Given the description of an element on the screen output the (x, y) to click on. 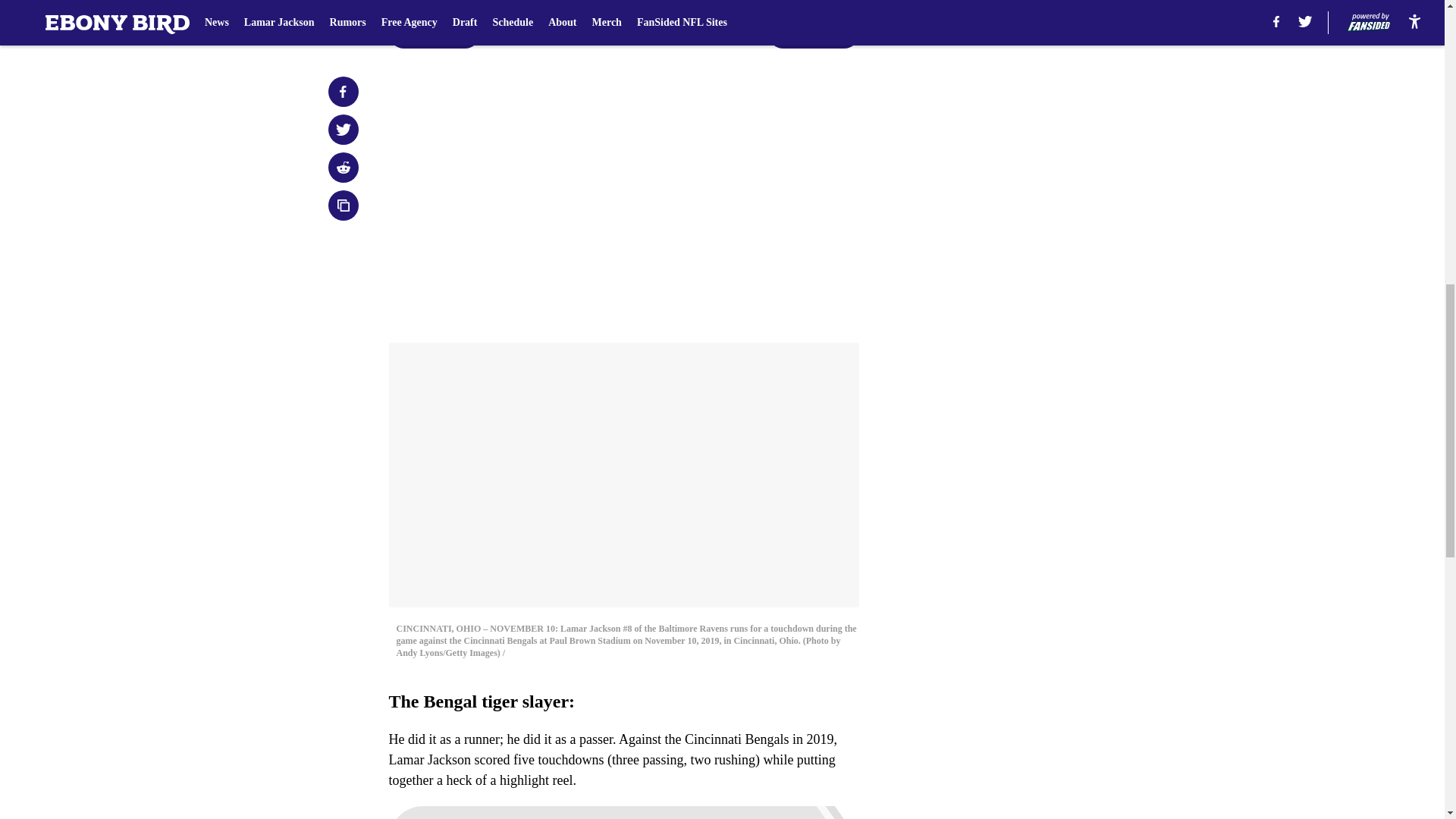
Next (813, 33)
Prev (433, 33)
